Given the description of an element on the screen output the (x, y) to click on. 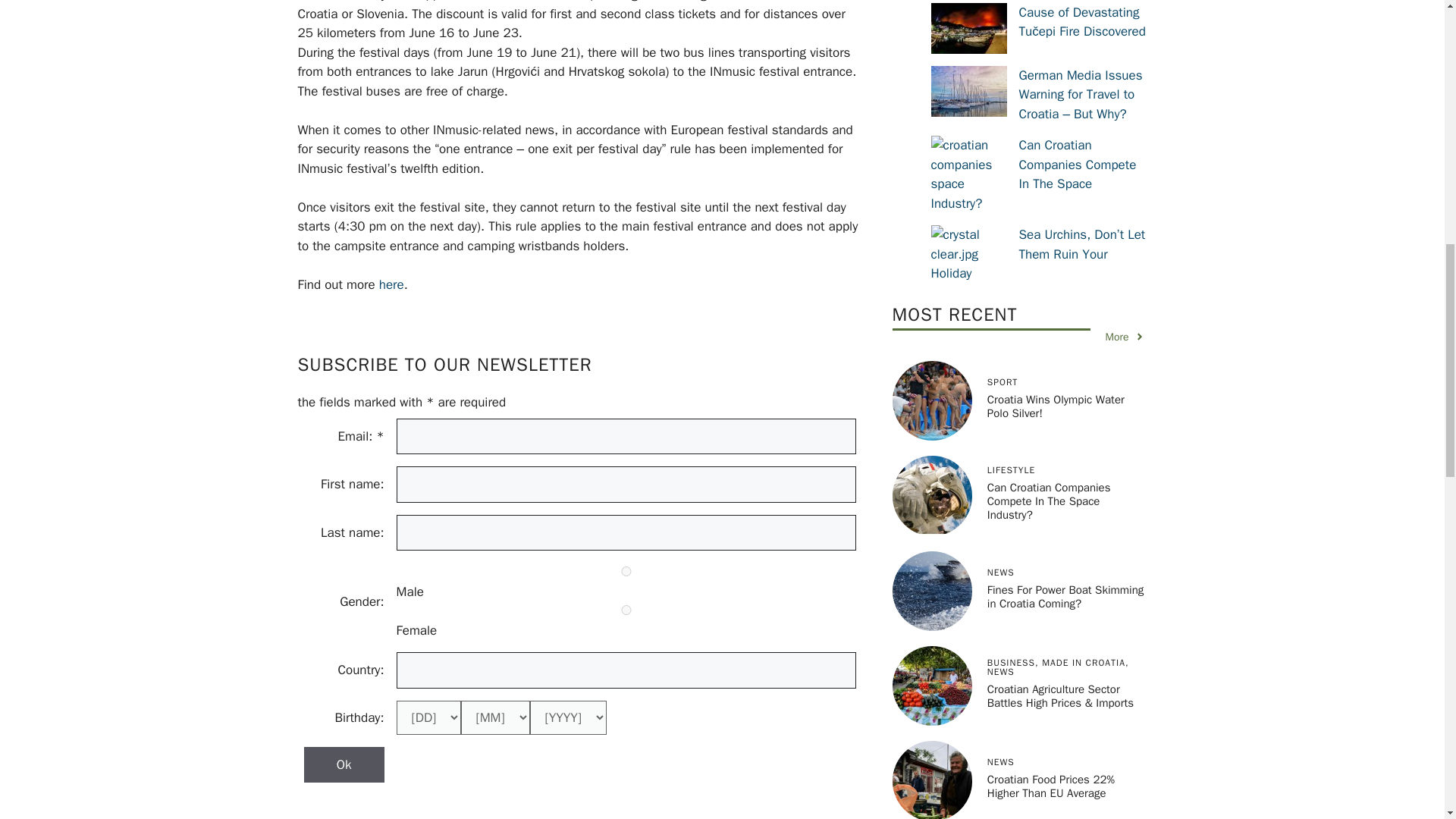
Ok (343, 764)
F (626, 610)
M (626, 571)
